Given the description of an element on the screen output the (x, y) to click on. 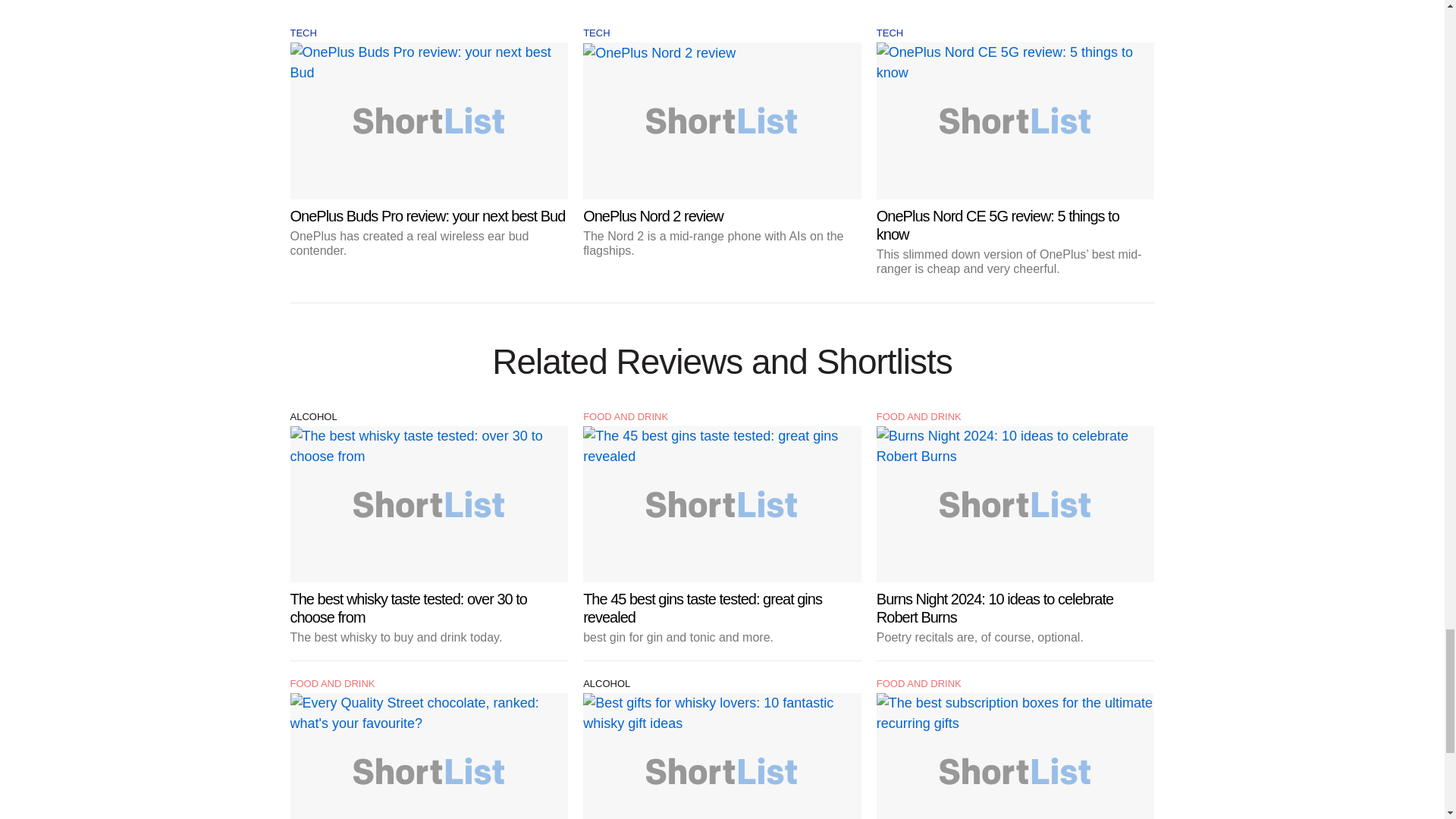
OnePlus Buds Pro review: your next best Bud (428, 149)
